Given the description of an element on the screen output the (x, y) to click on. 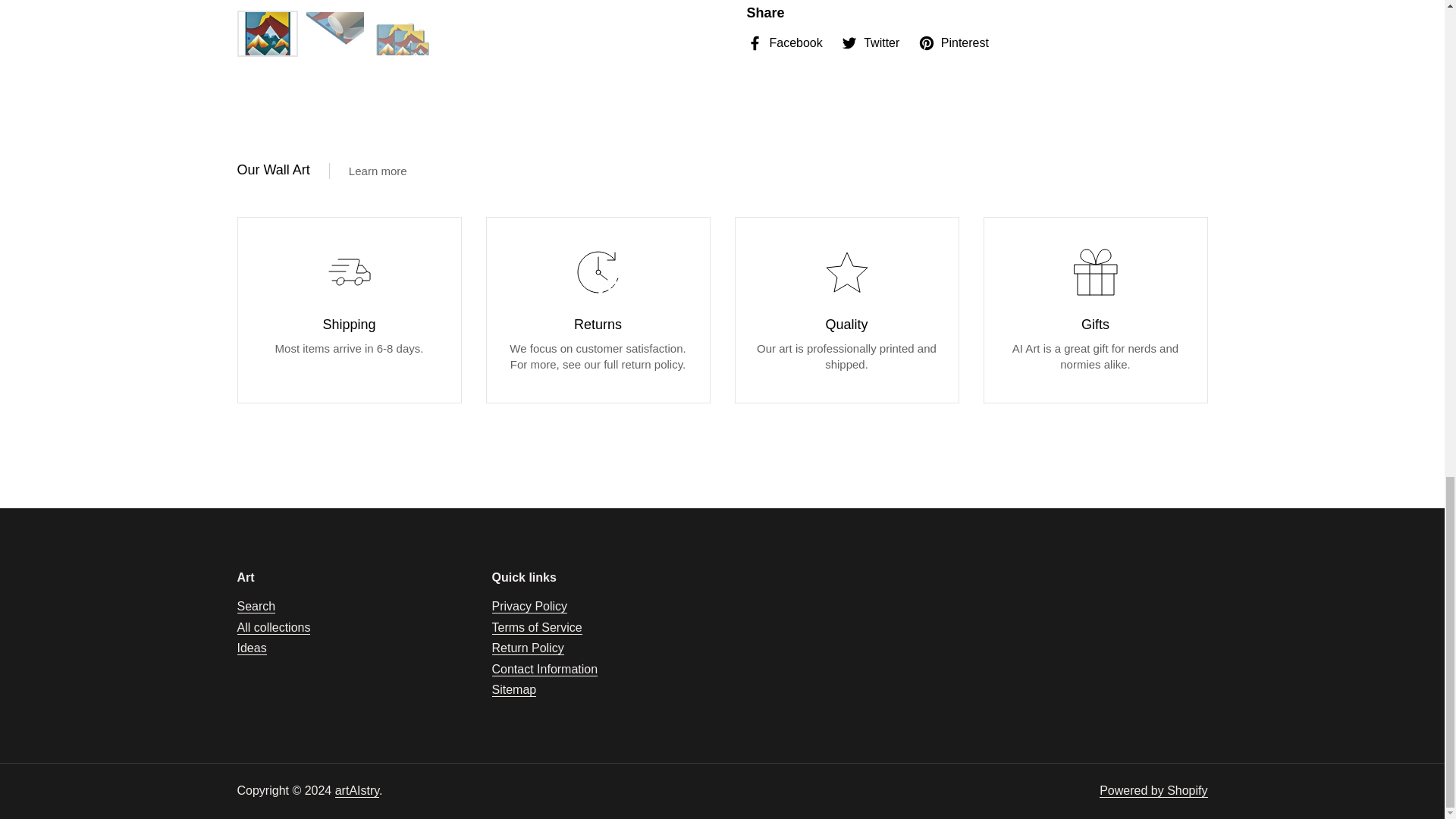
Share on pinterest (953, 43)
Share on facebook (783, 43)
Share on twitter (870, 43)
